Given the description of an element on the screen output the (x, y) to click on. 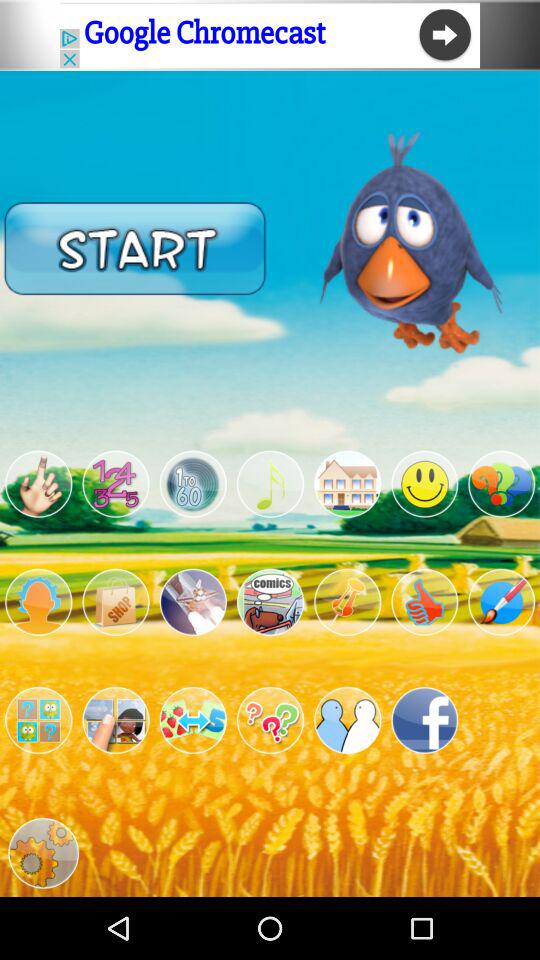
go to shop (115, 602)
